Given the description of an element on the screen output the (x, y) to click on. 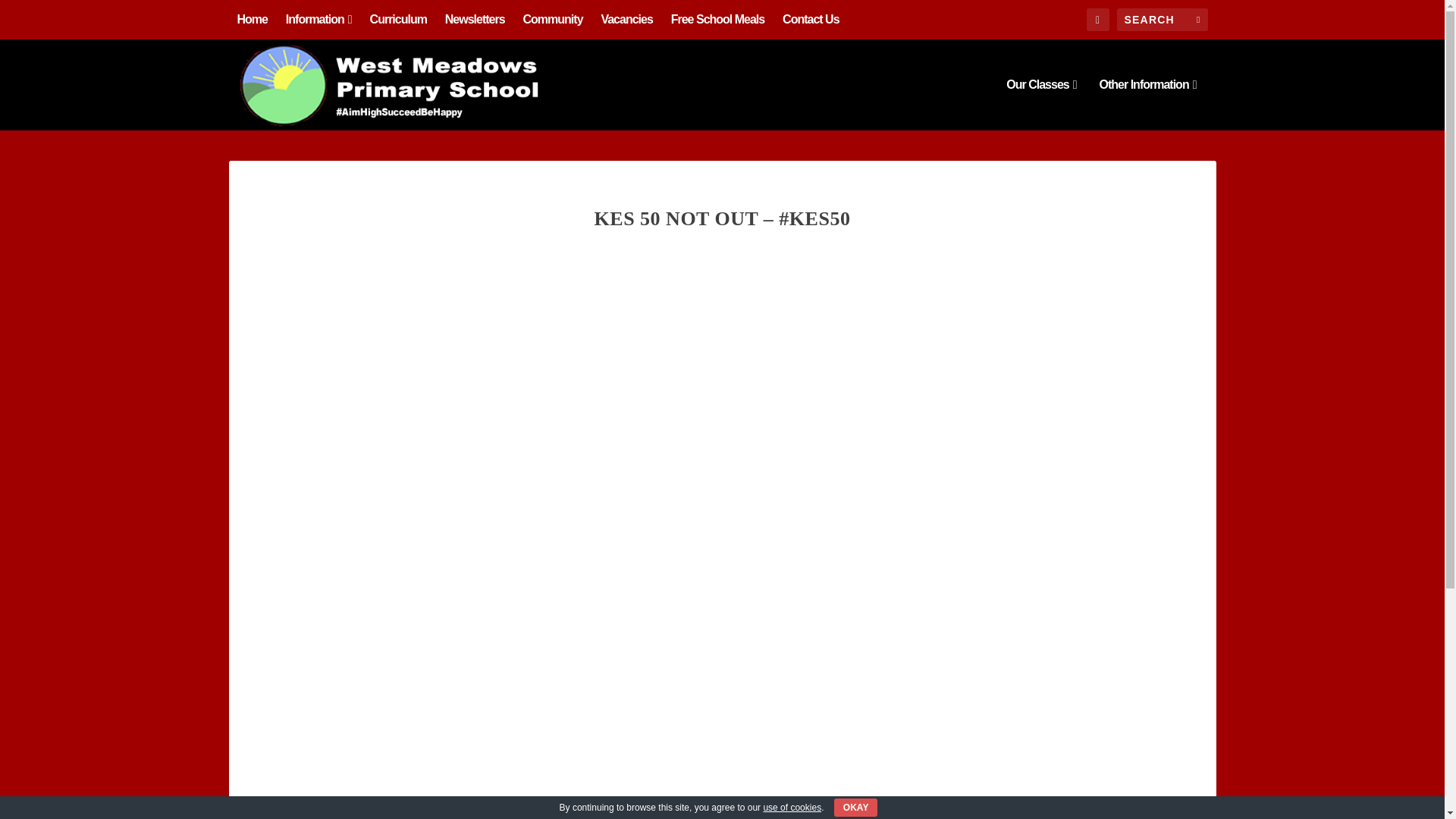
Our Classes (1040, 104)
Free School Meals (718, 19)
Information (318, 19)
Community (552, 19)
Newsletters (475, 19)
Search for: (1161, 19)
Contact Us (810, 19)
Vacancies (625, 19)
Curriculum (397, 19)
